Given the description of an element on the screen output the (x, y) to click on. 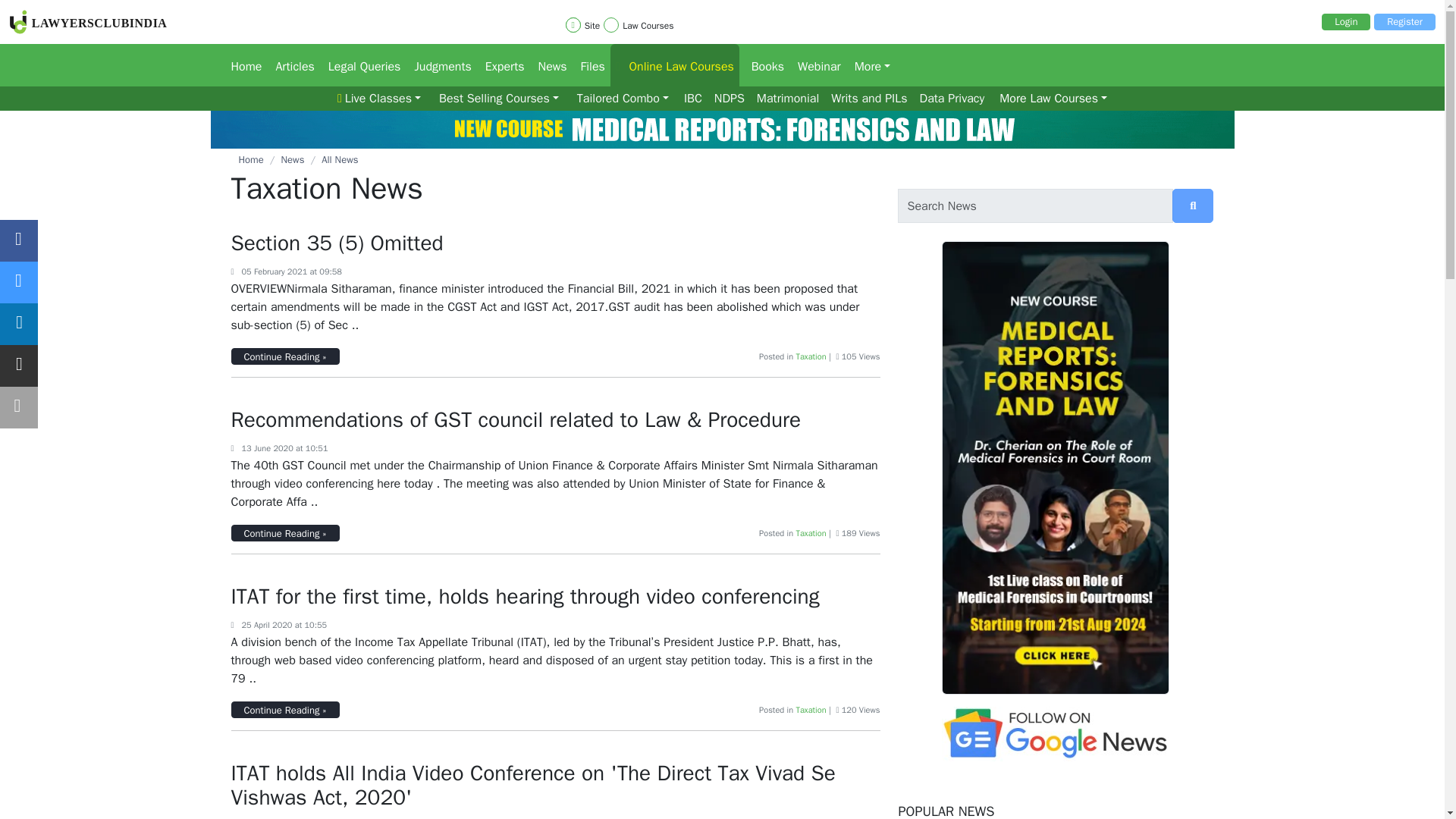
Webinar (814, 65)
Books (762, 65)
Files  (589, 65)
Share Files (589, 65)
Online Law Courses  (674, 65)
More (867, 65)
Best Selling Courses (498, 98)
Judgments (436, 65)
Articles (289, 65)
Experts (499, 65)
